Given the description of an element on the screen output the (x, y) to click on. 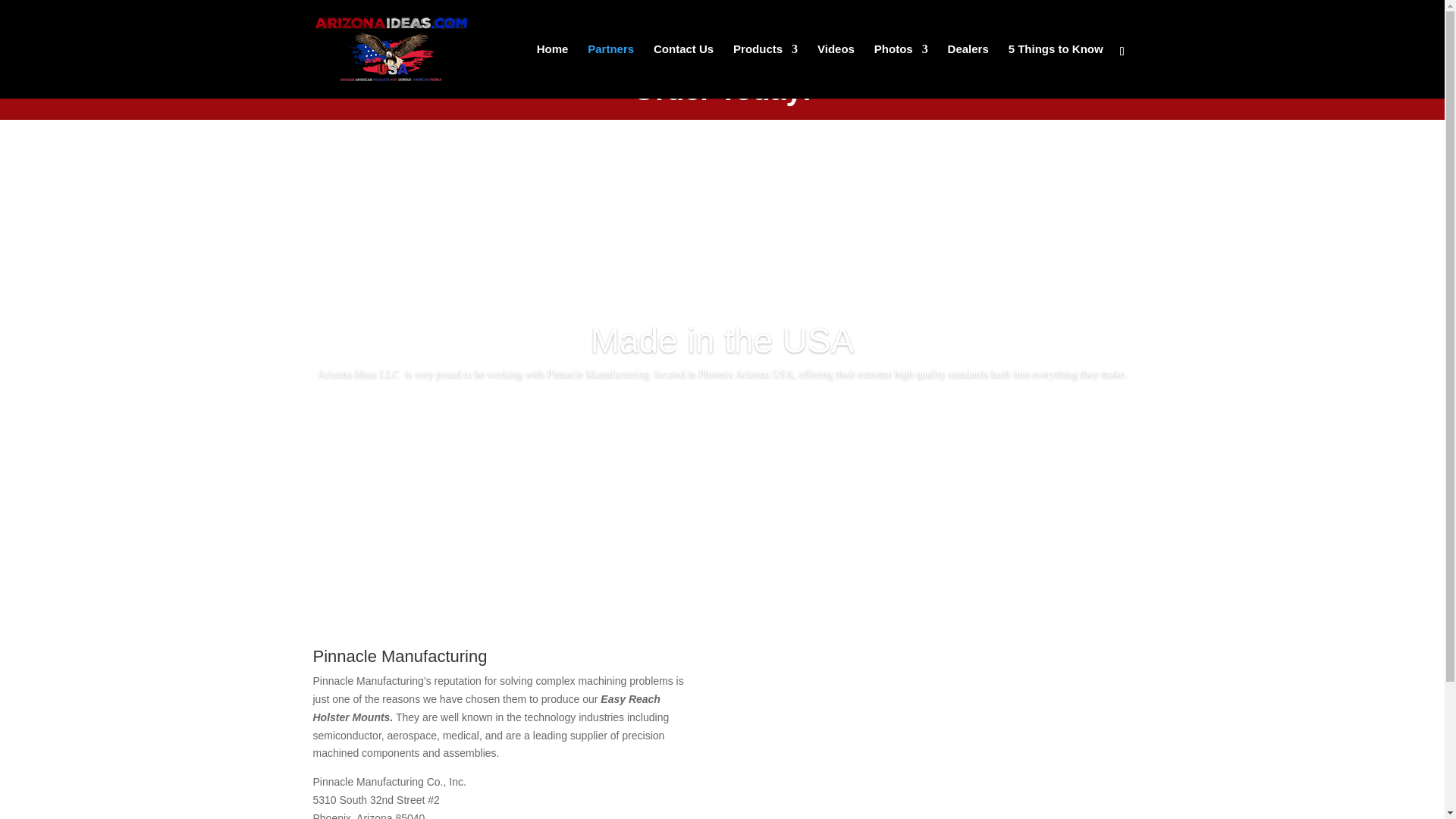
Contact Us (683, 71)
5 Things to Know (1056, 71)
Products (765, 71)
Photos (901, 71)
